Given the description of an element on the screen output the (x, y) to click on. 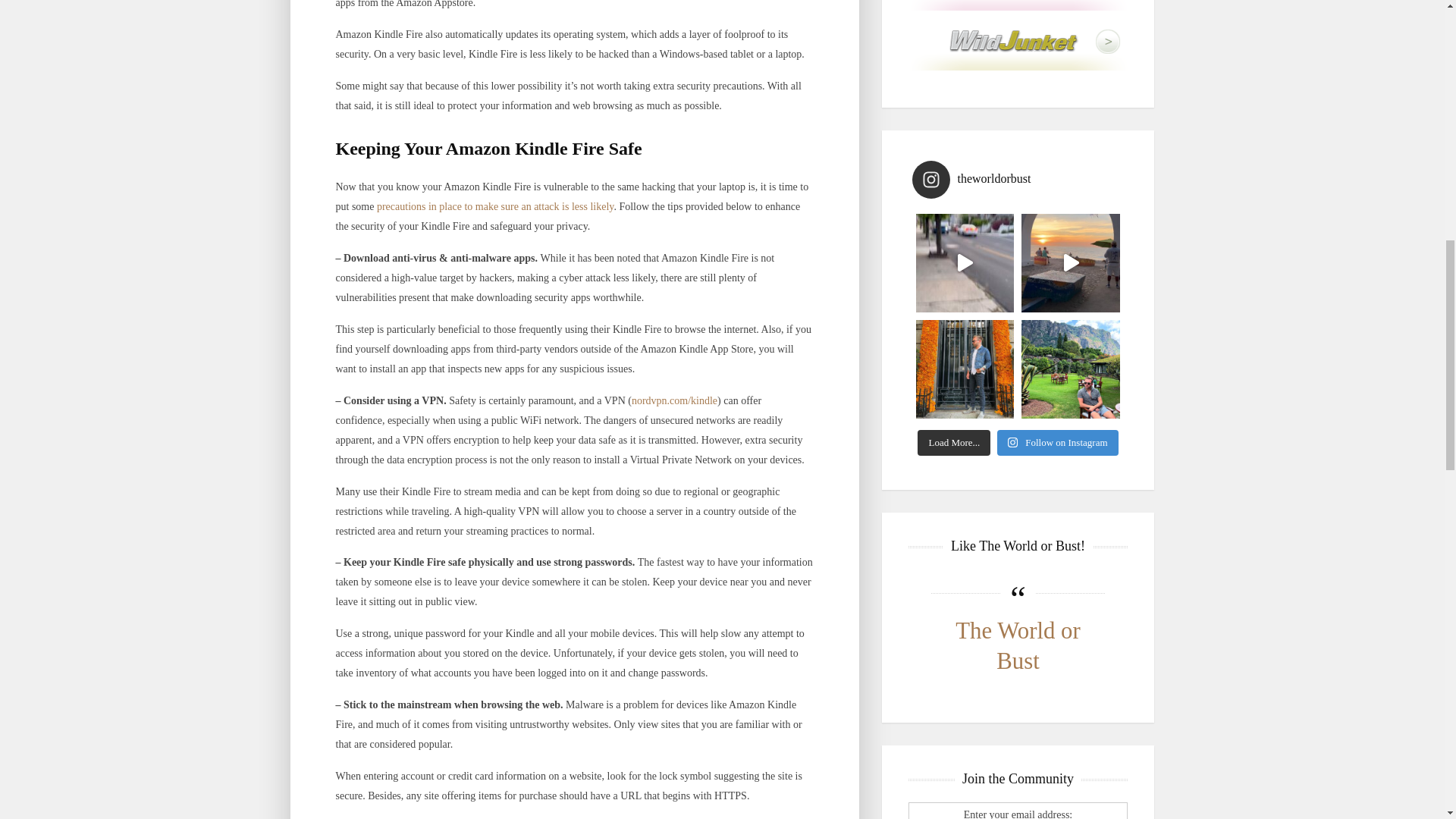
precautions in place to make sure an attack is less likely (494, 206)
